Given the description of an element on the screen output the (x, y) to click on. 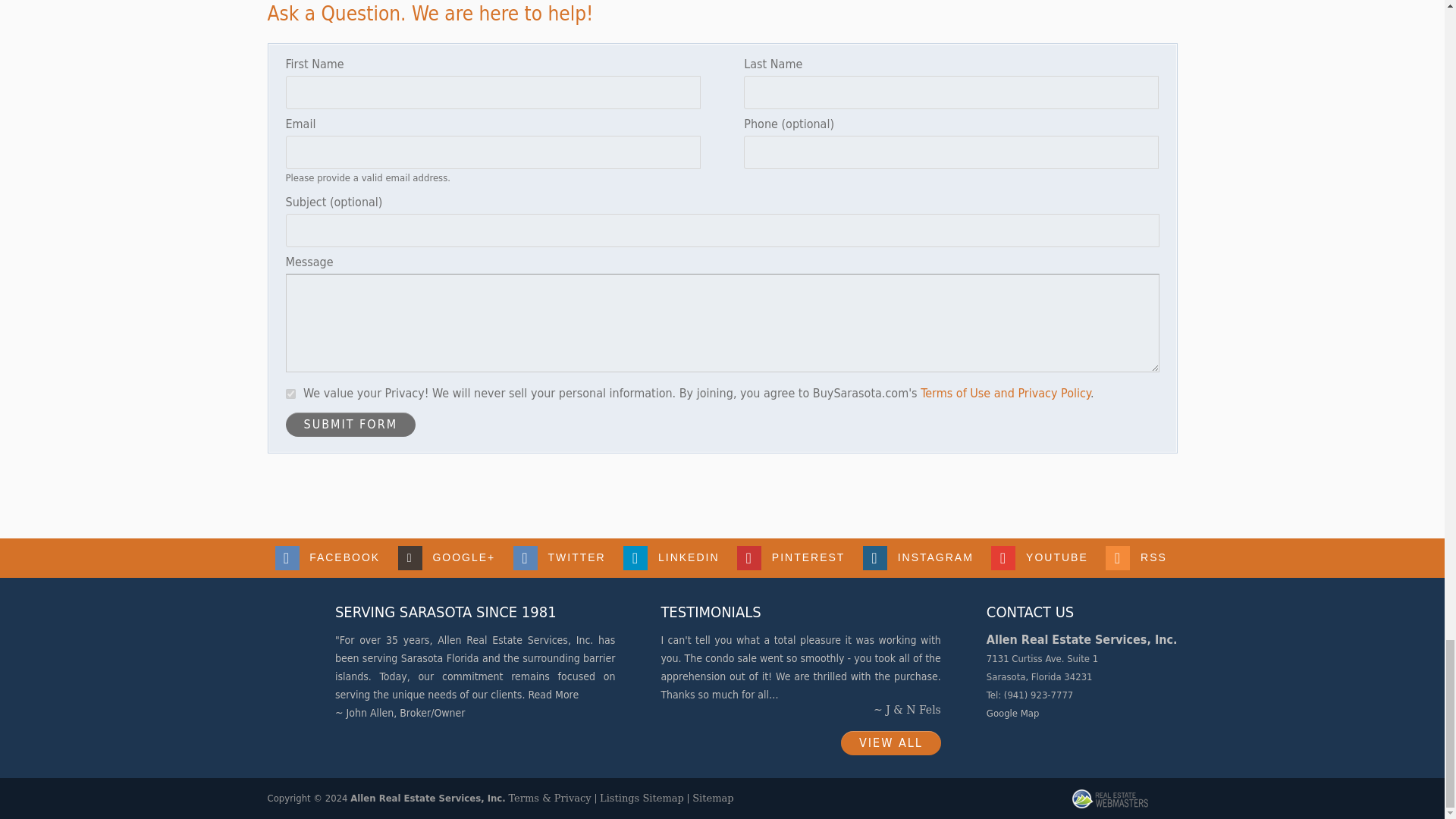
in (290, 393)
Find us on Pinterest (791, 558)
Find us on Facebook (328, 558)
Find us on Twitter (560, 558)
Find us on LinkedIn (672, 558)
